Given the description of an element on the screen output the (x, y) to click on. 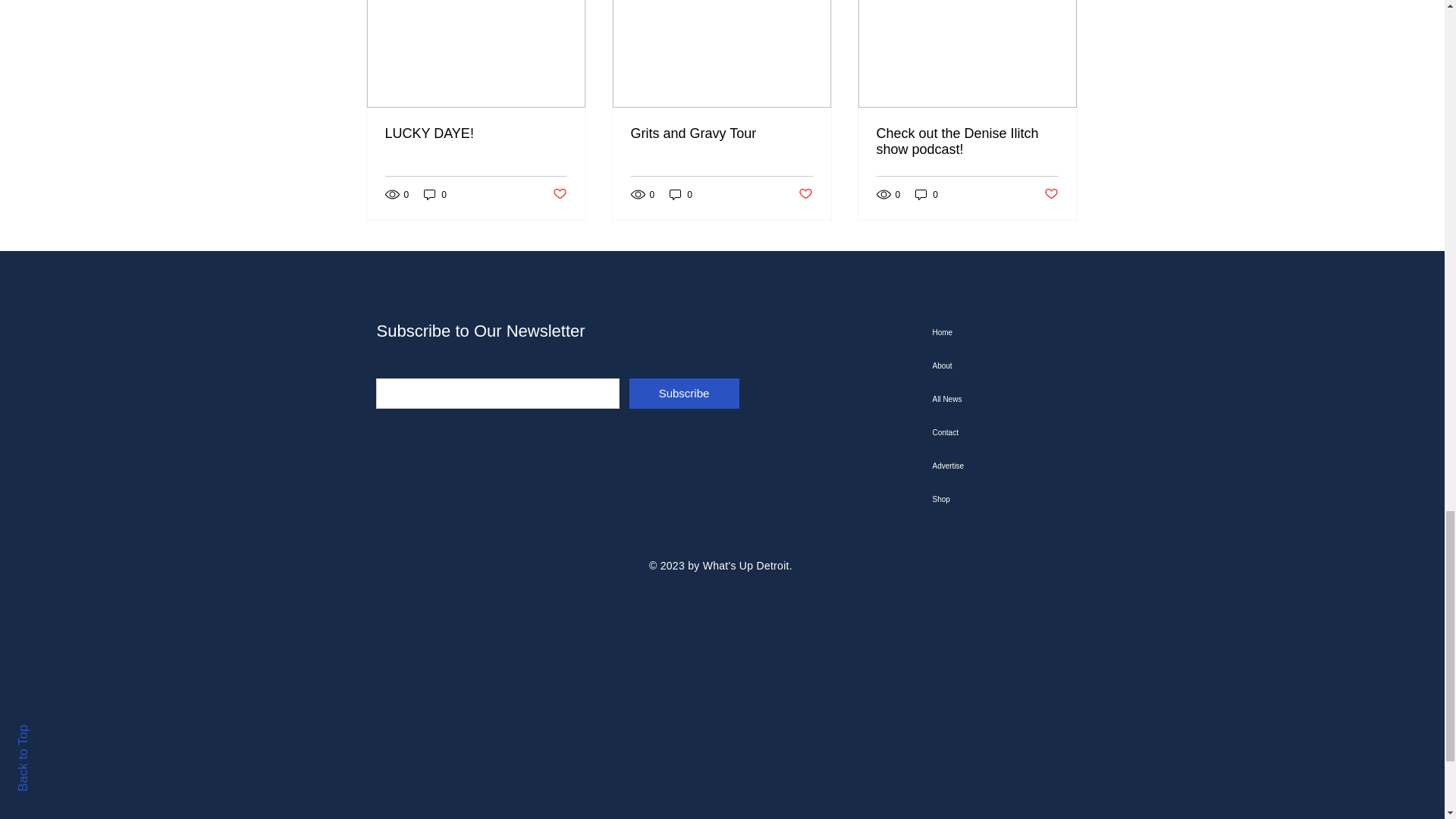
Post not marked as liked (1050, 194)
0 (435, 194)
Grits and Gravy Tour (721, 133)
Check out the Denise Ilitch show podcast! (967, 142)
0 (926, 194)
Post not marked as liked (804, 194)
0 (681, 194)
LUCKY DAYE! (476, 133)
Post not marked as liked (558, 194)
